Given the description of an element on the screen output the (x, y) to click on. 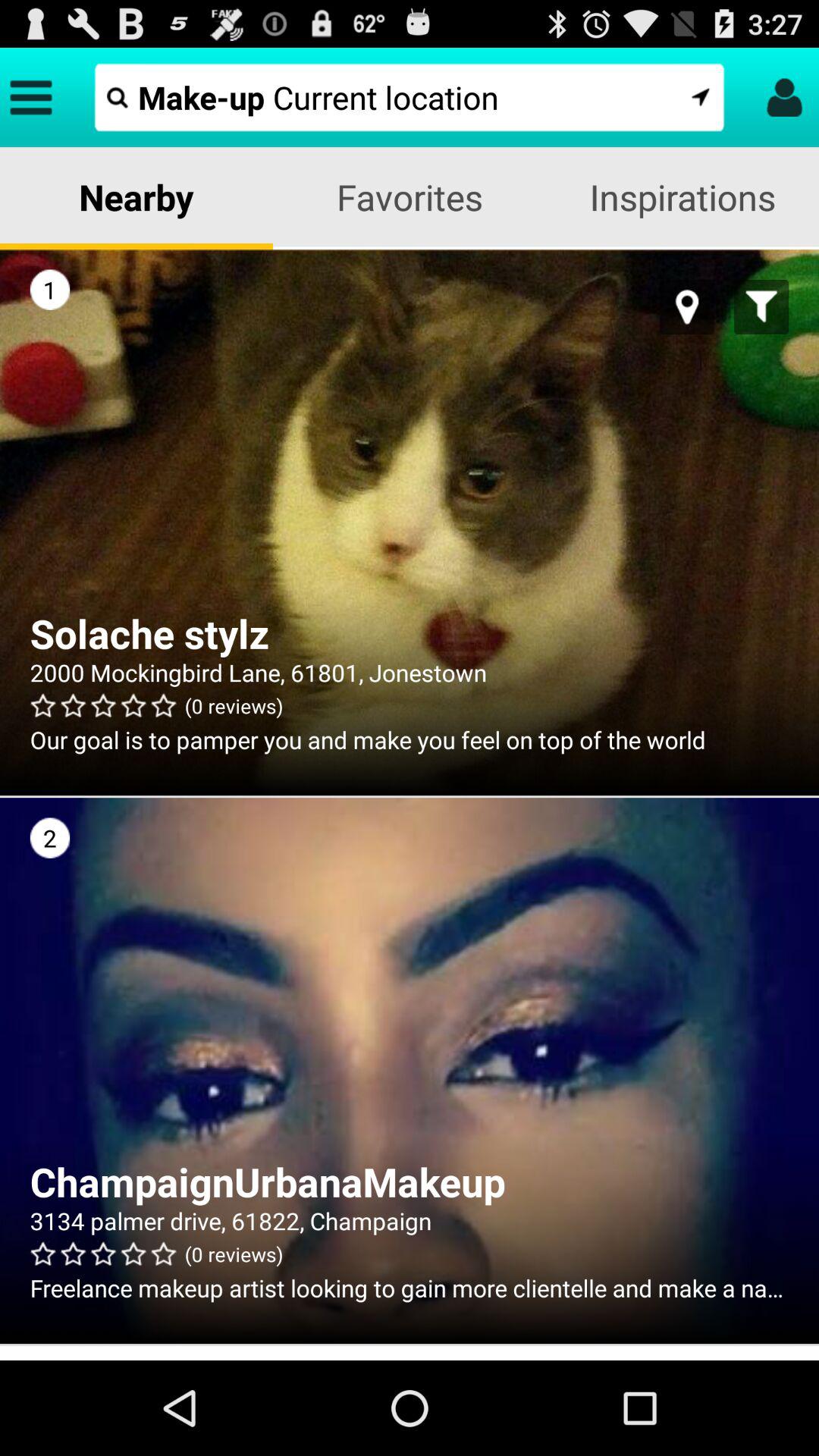
flip until the our goal is item (409, 739)
